Given the description of an element on the screen output the (x, y) to click on. 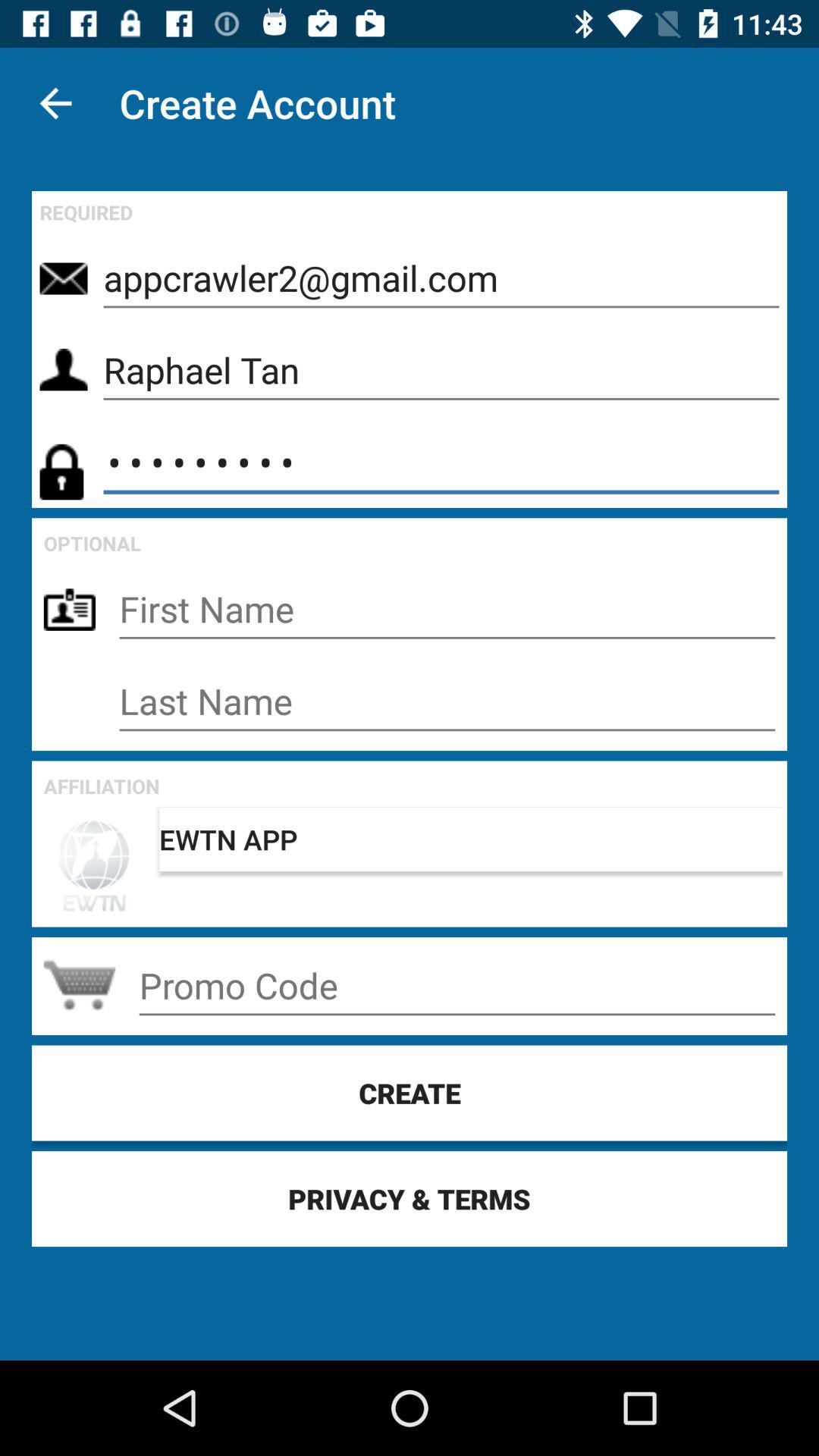
tap the item below raphael tan (441, 462)
